Given the description of an element on the screen output the (x, y) to click on. 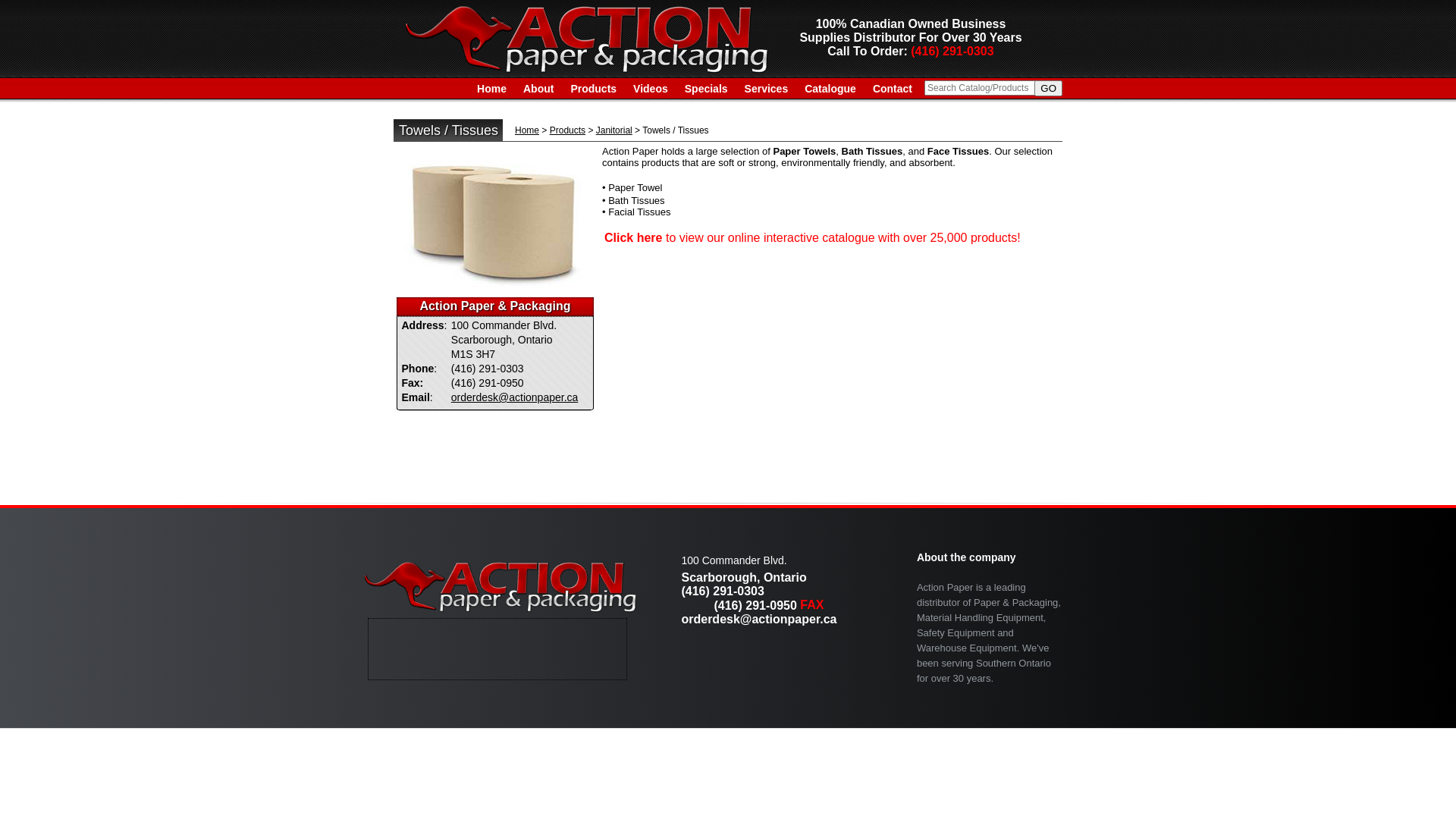
Click here Element type: text (633, 237)
Contact Element type: text (892, 88)
Home Element type: text (491, 88)
Videos Element type: text (650, 88)
GO Element type: text (1048, 88)
orderdesk@actionpaper.ca Element type: text (514, 397)
orderdesk@actionpaper.ca Element type: text (758, 618)
Products Element type: text (567, 130)
Specials Element type: text (706, 88)
About Element type: text (538, 88)
Janitorial Element type: text (614, 130)
Products Element type: text (593, 88)
Home Element type: text (526, 130)
Services Element type: text (766, 88)
Catalogue Element type: text (830, 88)
